Given the description of an element on the screen output the (x, y) to click on. 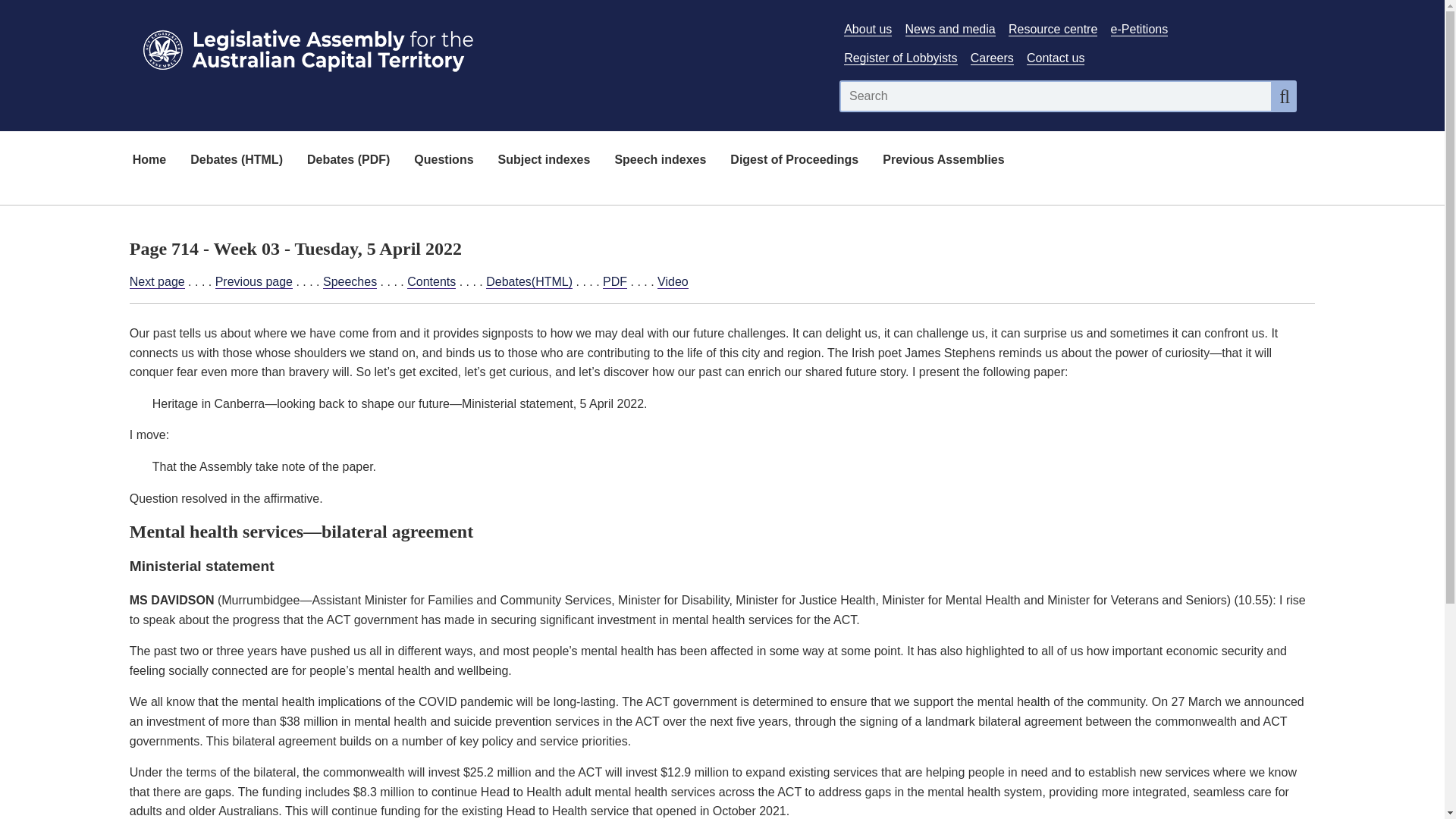
PDF (614, 282)
News and media (950, 29)
Next page (156, 282)
Link to News and media (950, 29)
Previous Assemblies (943, 160)
Link to Contact Us (1055, 58)
Video (673, 282)
Link to Resource centre (1053, 29)
Search input field (1056, 96)
Resource centre (1053, 29)
Digest of Proceedings (793, 160)
Link to Homepage (475, 46)
Previous page (253, 282)
Home (148, 160)
e-Petitions (1139, 29)
